Given the description of an element on the screen output the (x, y) to click on. 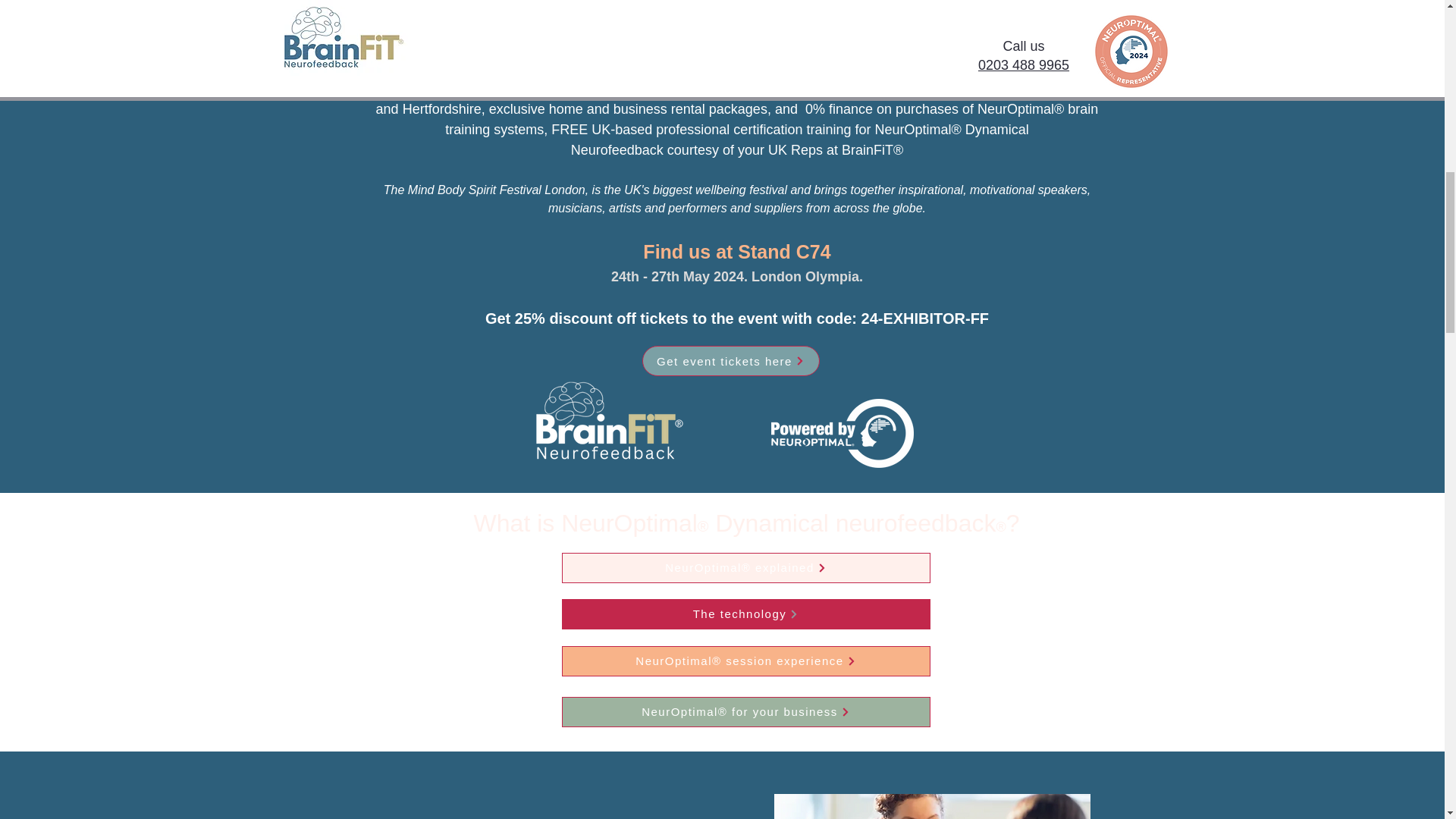
The technology (745, 613)
Get event tickets here (730, 360)
complimentary brain training session (737, 22)
